Given the description of an element on the screen output the (x, y) to click on. 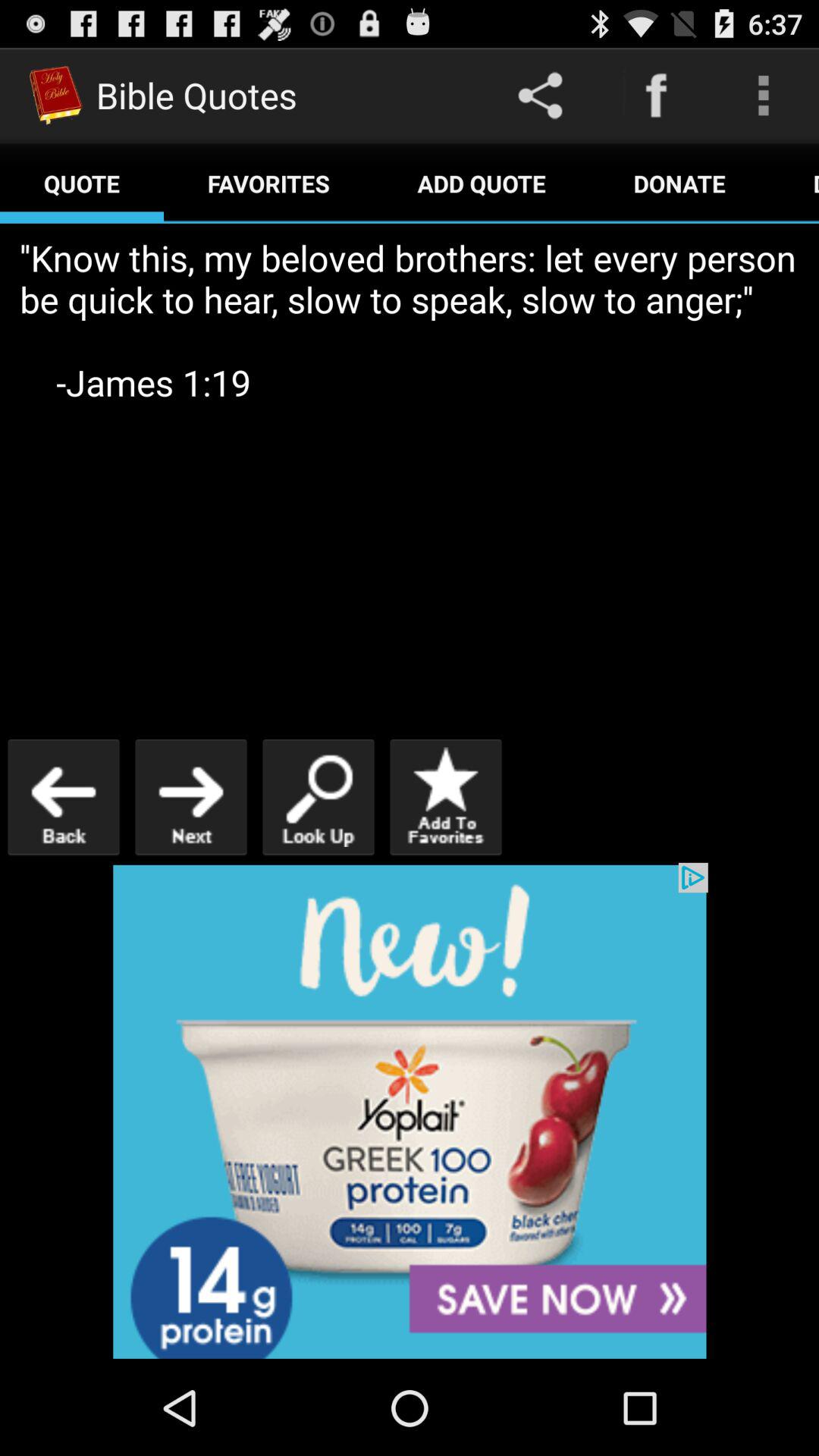
go back (63, 796)
